Given the description of an element on the screen output the (x, y) to click on. 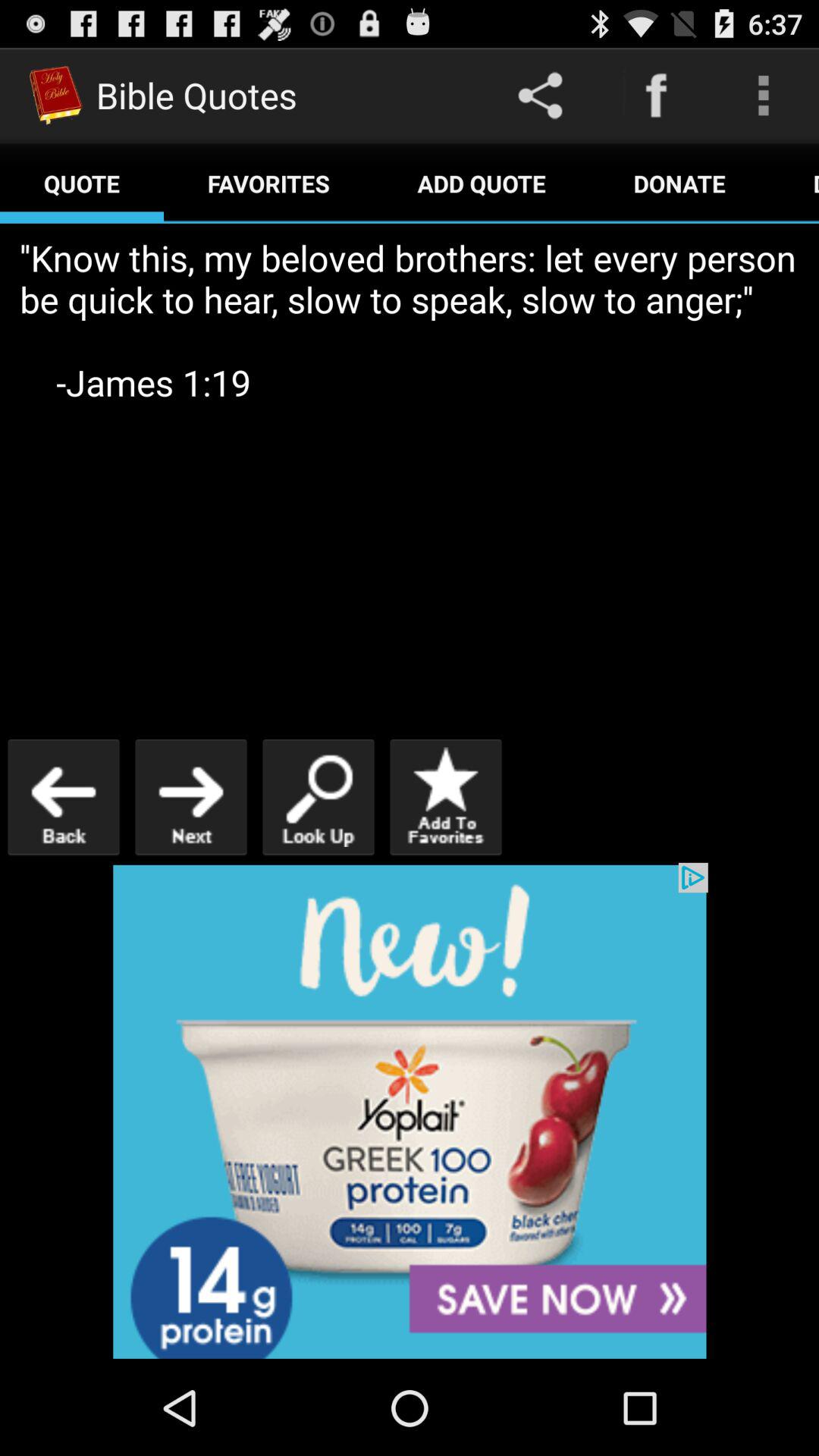
go back (63, 796)
